Given the description of an element on the screen output the (x, y) to click on. 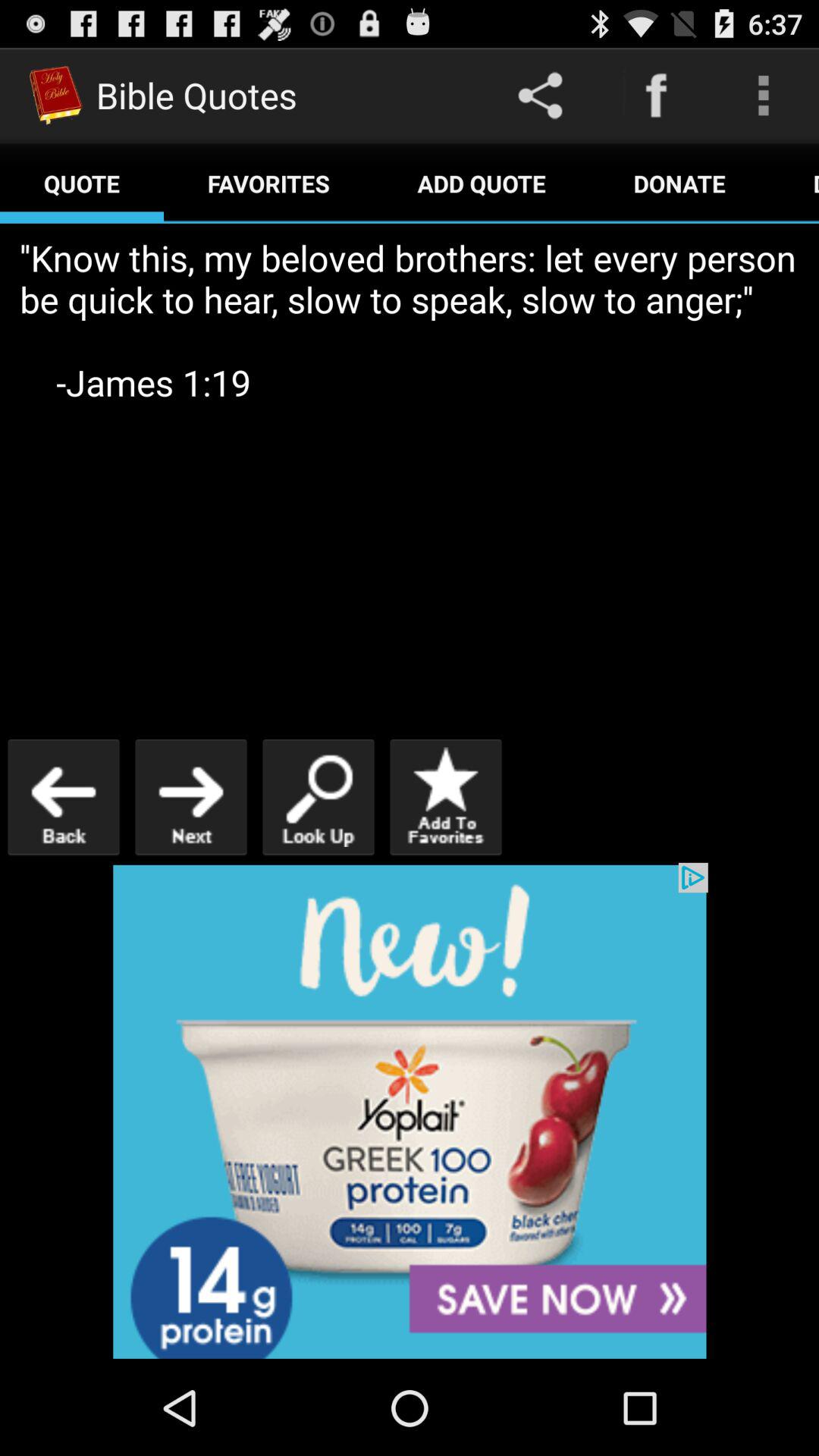
go back (63, 796)
